Given the description of an element on the screen output the (x, y) to click on. 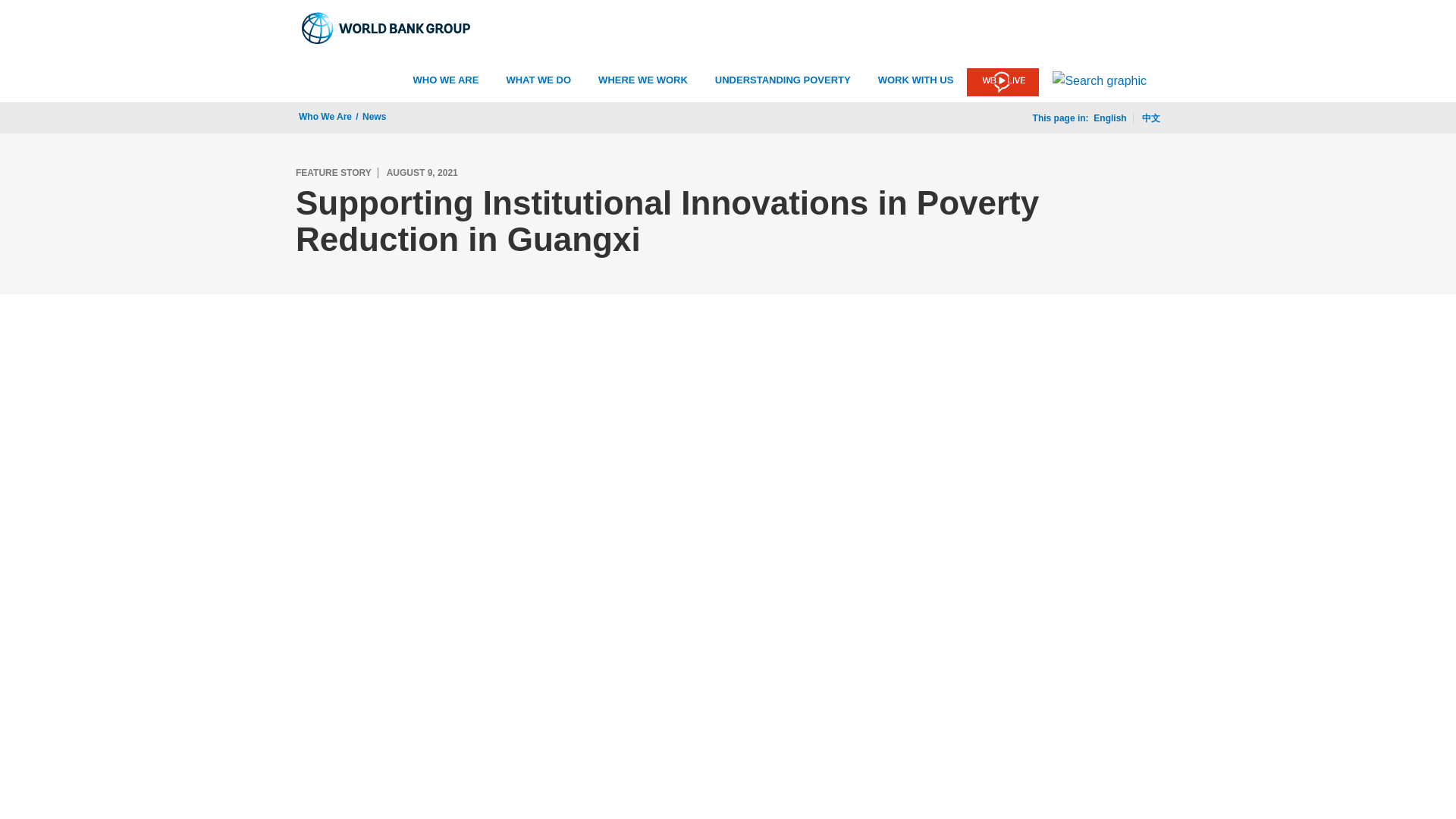
WHO WE ARE (446, 81)
The World Bank Group logo (386, 28)
Global Search (1099, 80)
WHAT WE DO (537, 81)
